Given the description of an element on the screen output the (x, y) to click on. 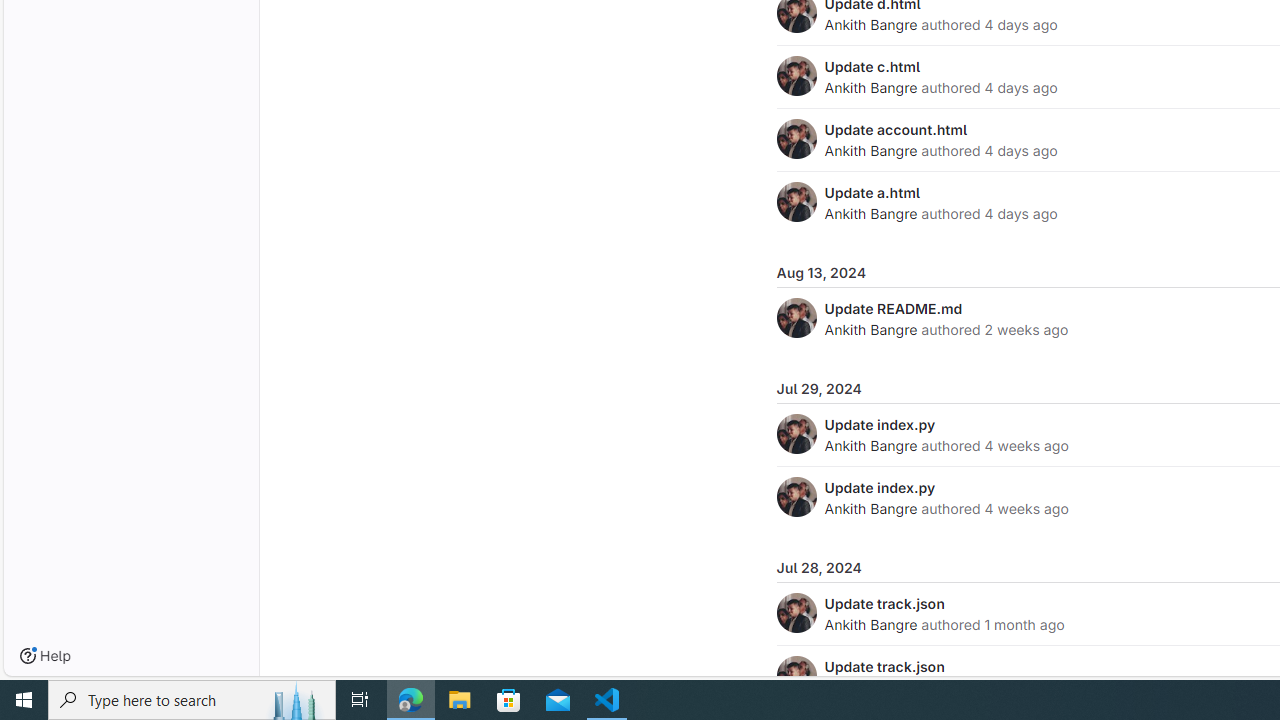
Help (45, 655)
Update track.json (884, 666)
Update index.py (879, 487)
Update account.html (895, 129)
Ankith Bangre (870, 624)
Ankith Bangre's avatar (795, 675)
Update README.md (893, 308)
Update c.html (872, 66)
Ankith Bangre's avatar (795, 675)
Update a.html (872, 192)
